Given the description of an element on the screen output the (x, y) to click on. 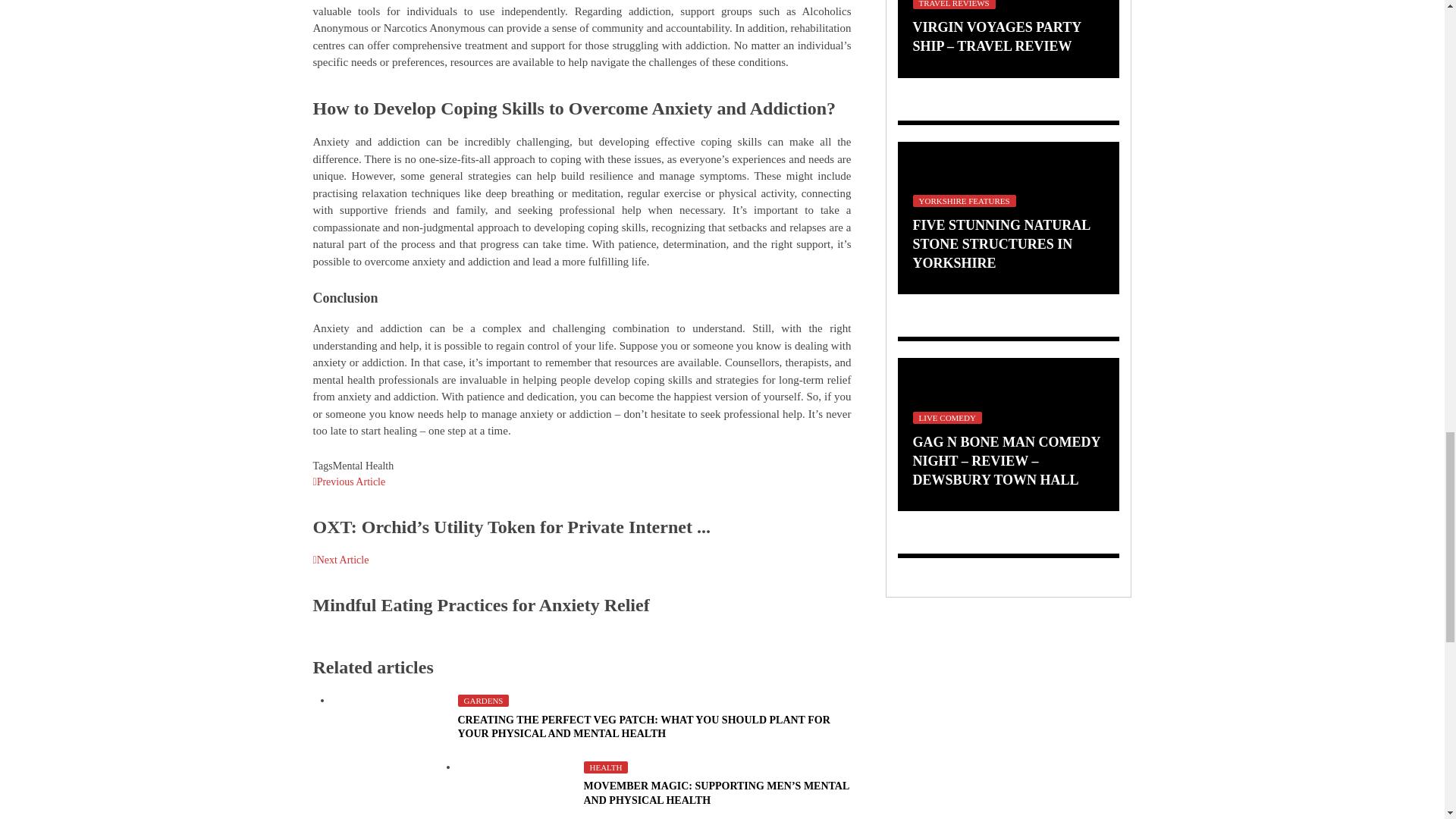
View all posts tagged Mental Health (363, 465)
